Given the description of an element on the screen output the (x, y) to click on. 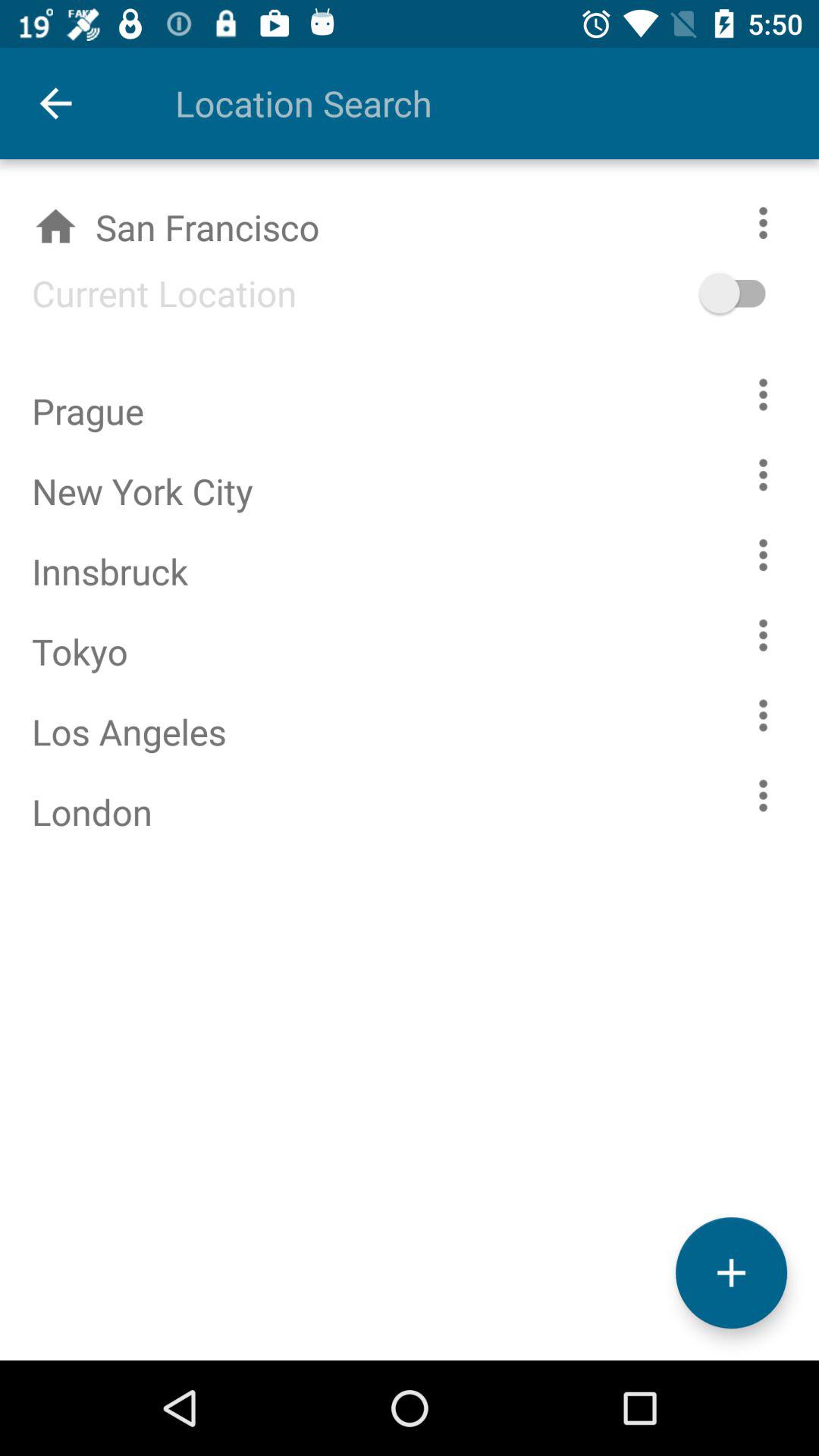
show location options (763, 394)
